Given the description of an element on the screen output the (x, y) to click on. 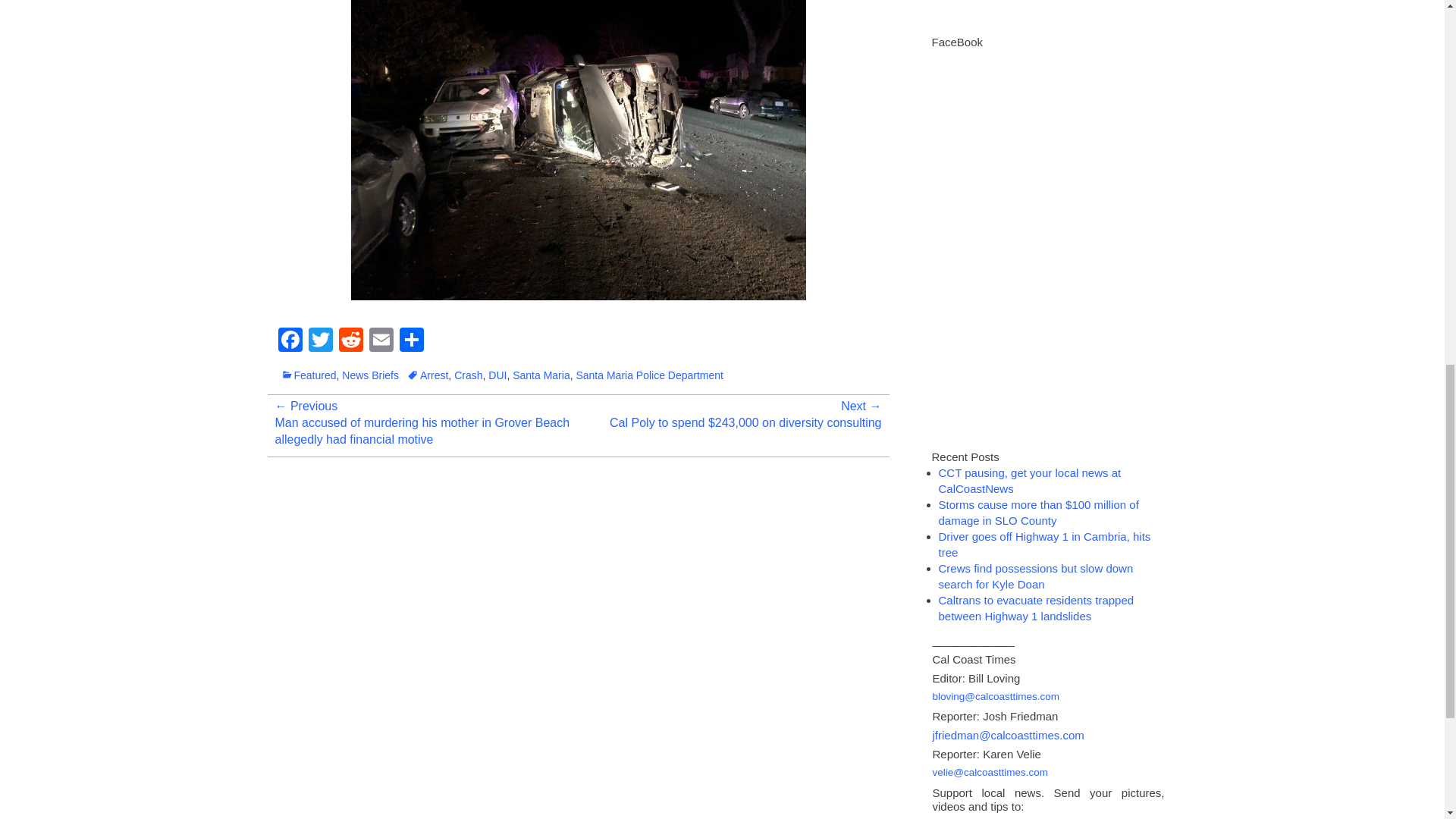
Twitter (319, 341)
Email (380, 341)
Facebook (289, 341)
Crash (467, 375)
Crews find possessions but slow down search for Kyle Doan (1036, 575)
Featured (308, 375)
Arrest (427, 375)
Reddit (349, 341)
3rd party ad content (1040, 13)
Santa Maria (540, 375)
Twitter (319, 341)
DUI (496, 375)
News Briefs (370, 375)
Reddit (349, 341)
Driver goes off Highway 1 in Cambria, hits tree (1045, 543)
